Given the description of an element on the screen output the (x, y) to click on. 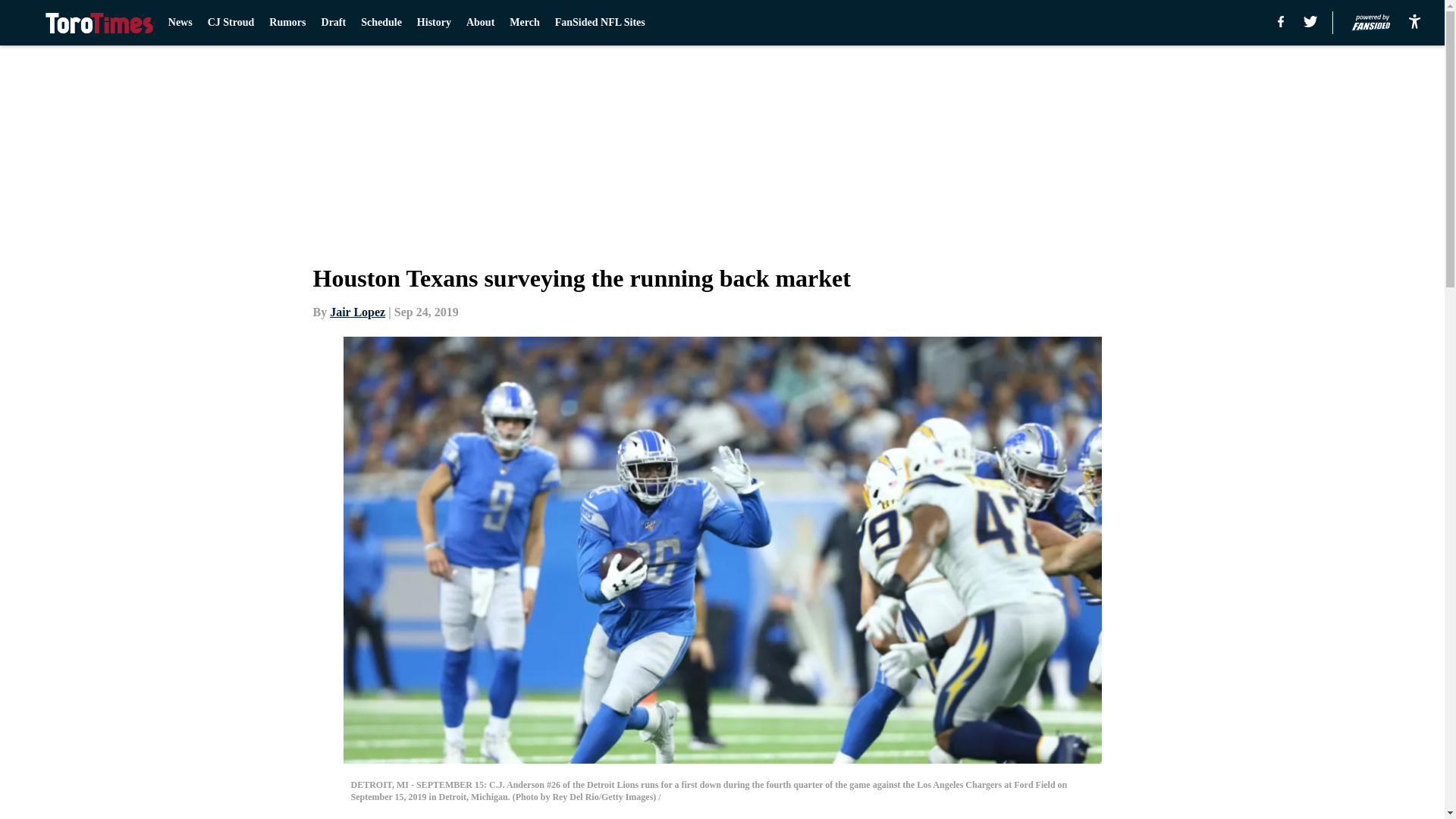
Merch (523, 22)
Jair Lopez (357, 311)
History (433, 22)
CJ Stroud (231, 22)
FanSided NFL Sites (599, 22)
About (480, 22)
Schedule (381, 22)
Rumors (287, 22)
News (180, 22)
Draft (333, 22)
